Given the description of an element on the screen output the (x, y) to click on. 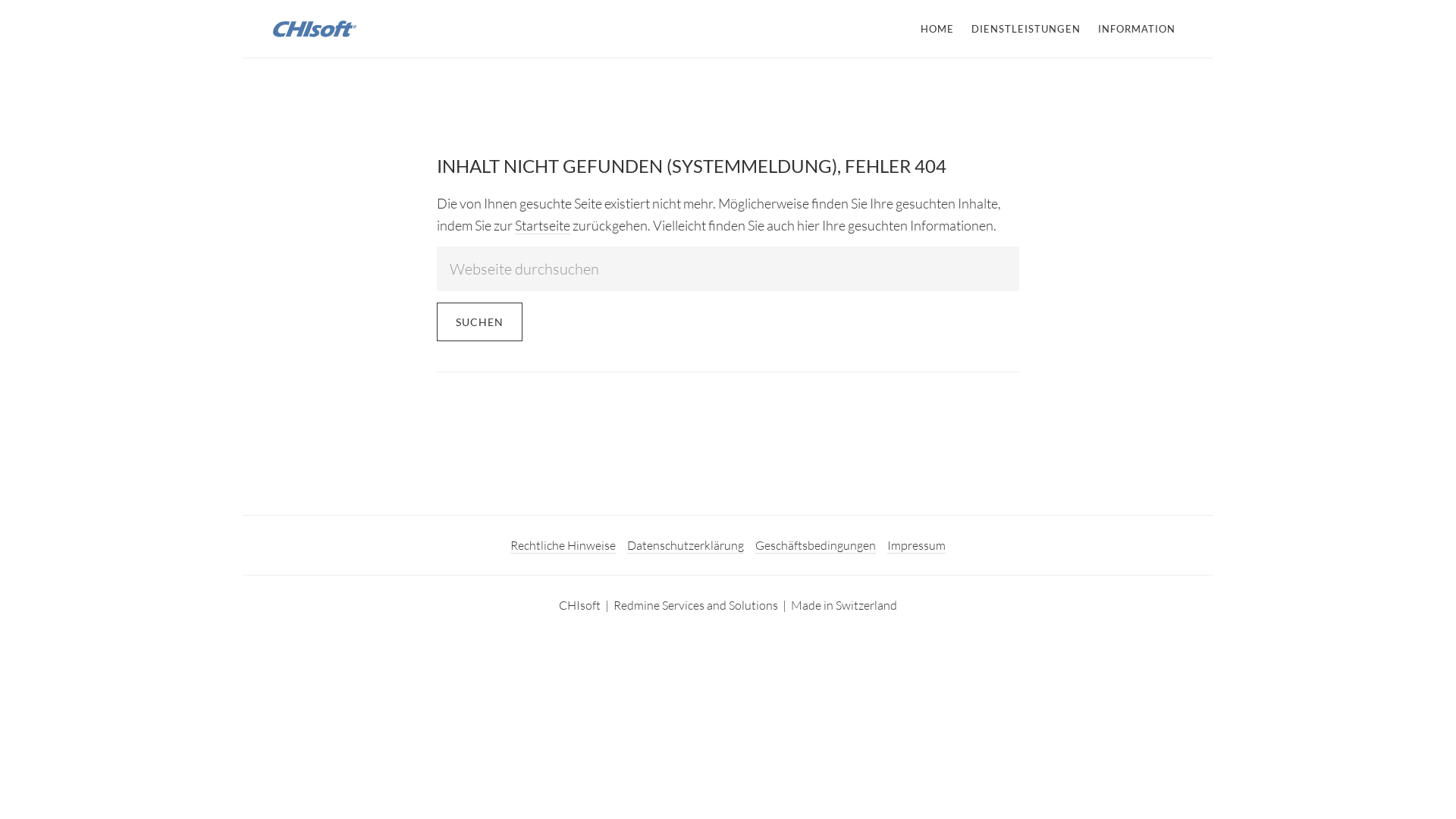
CHISOFT Element type: text (386, 28)
Startseite Element type: text (542, 225)
Rechtliche Hinweise Element type: text (562, 545)
DIENSTLEISTUNGEN Element type: text (1025, 28)
Suchen Element type: text (479, 321)
Skip to main content Element type: text (242, 0)
INFORMATION Element type: text (1136, 28)
Impressum Element type: text (916, 545)
HOME Element type: text (937, 28)
